Given the description of an element on the screen output the (x, y) to click on. 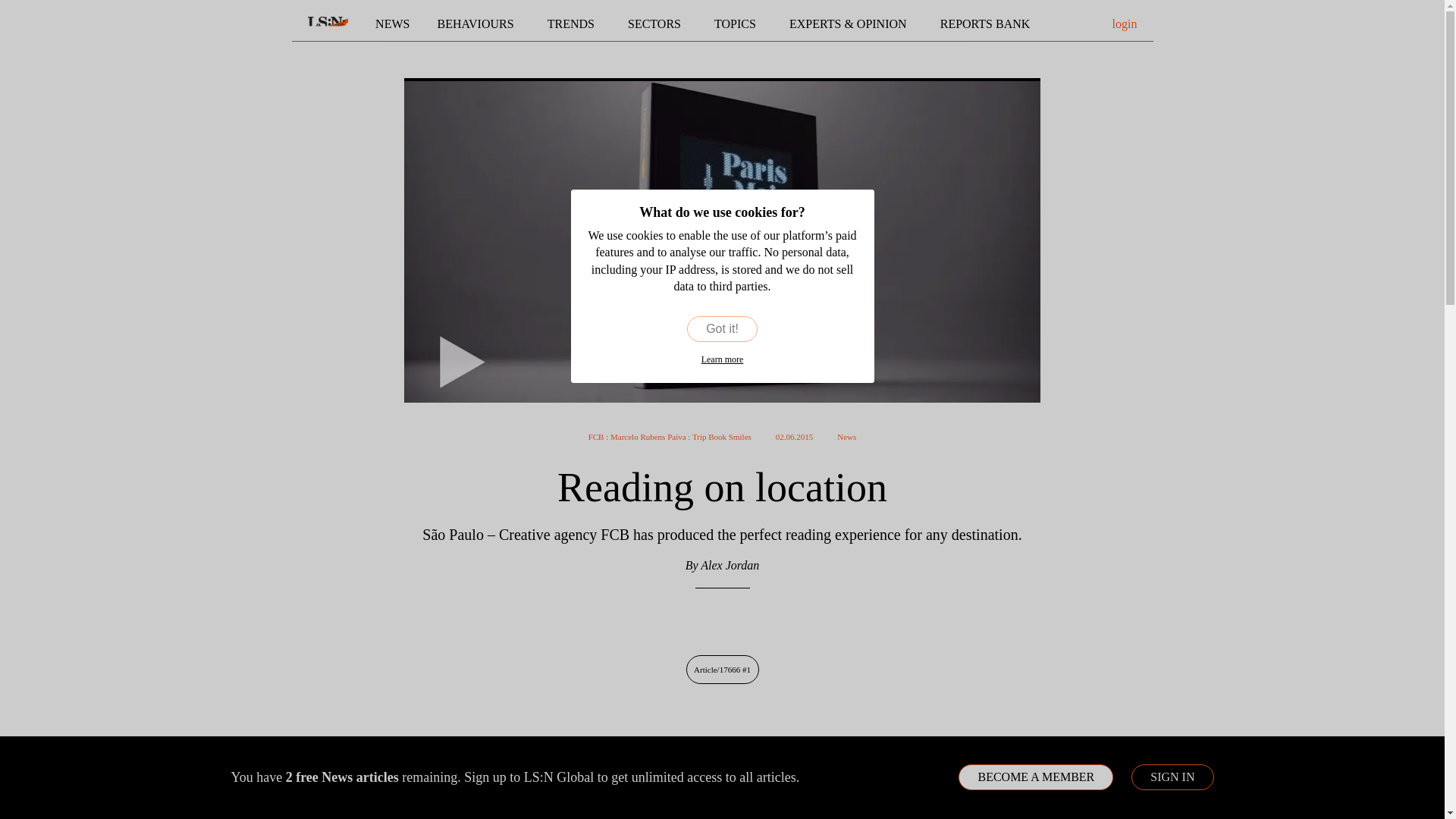
BEHAVIOURS (478, 24)
News (392, 24)
LS:N Global (327, 24)
TRENDS (573, 24)
NEWS (392, 24)
Trends (573, 24)
Behaviours (478, 24)
